Given the description of an element on the screen output the (x, y) to click on. 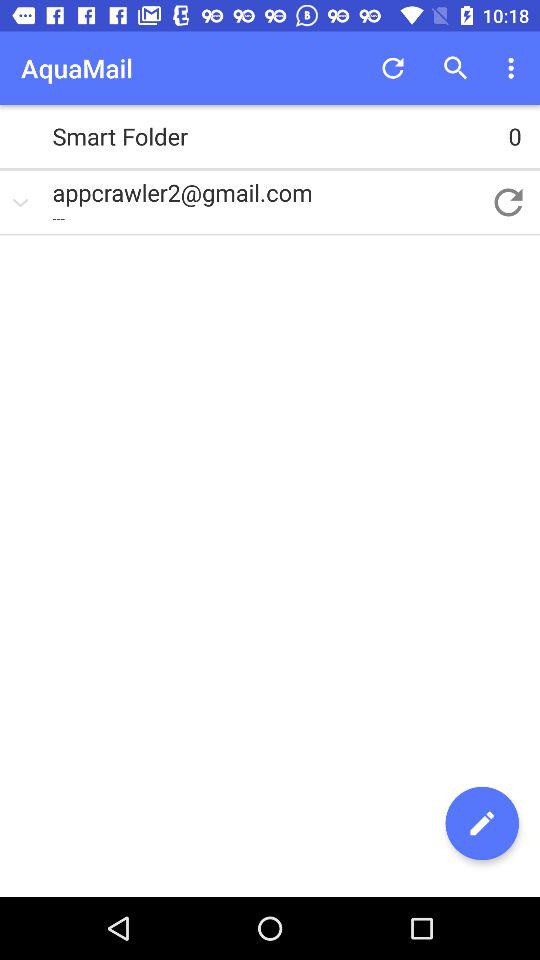
open icon to the right of the aquamail icon (392, 67)
